Given the description of an element on the screen output the (x, y) to click on. 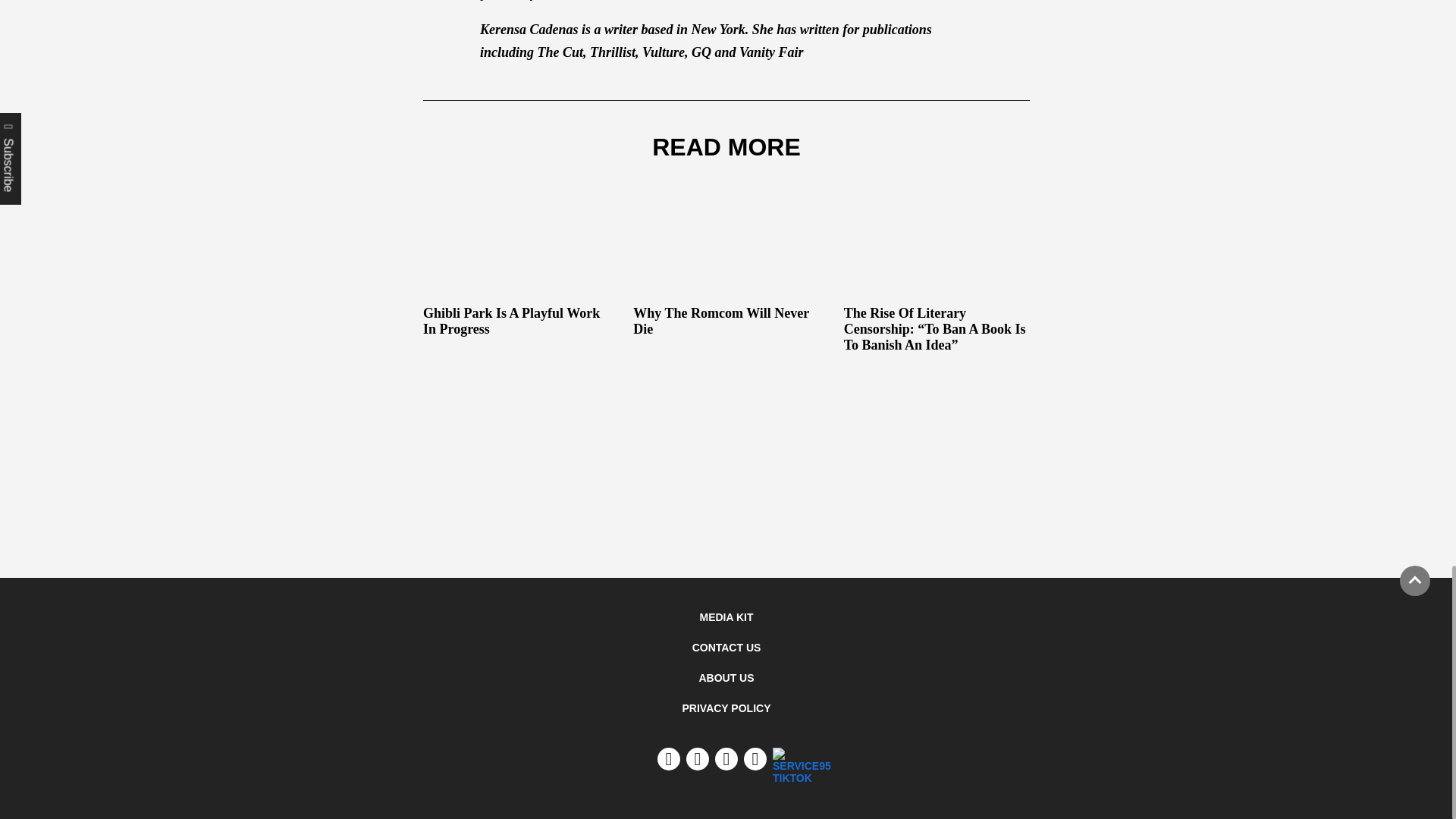
Facebook (755, 758)
Instagram (697, 758)
Youtube (668, 758)
Twitter (726, 758)
MEDIA KIT (725, 616)
Why The Romcom Will Never Die (725, 264)
Ghibli Park Is A Playful Work In Progress  (515, 264)
CONTACT US (727, 647)
PRIVACY POLICY (726, 707)
ABOUT US (726, 677)
